Given the description of an element on the screen output the (x, y) to click on. 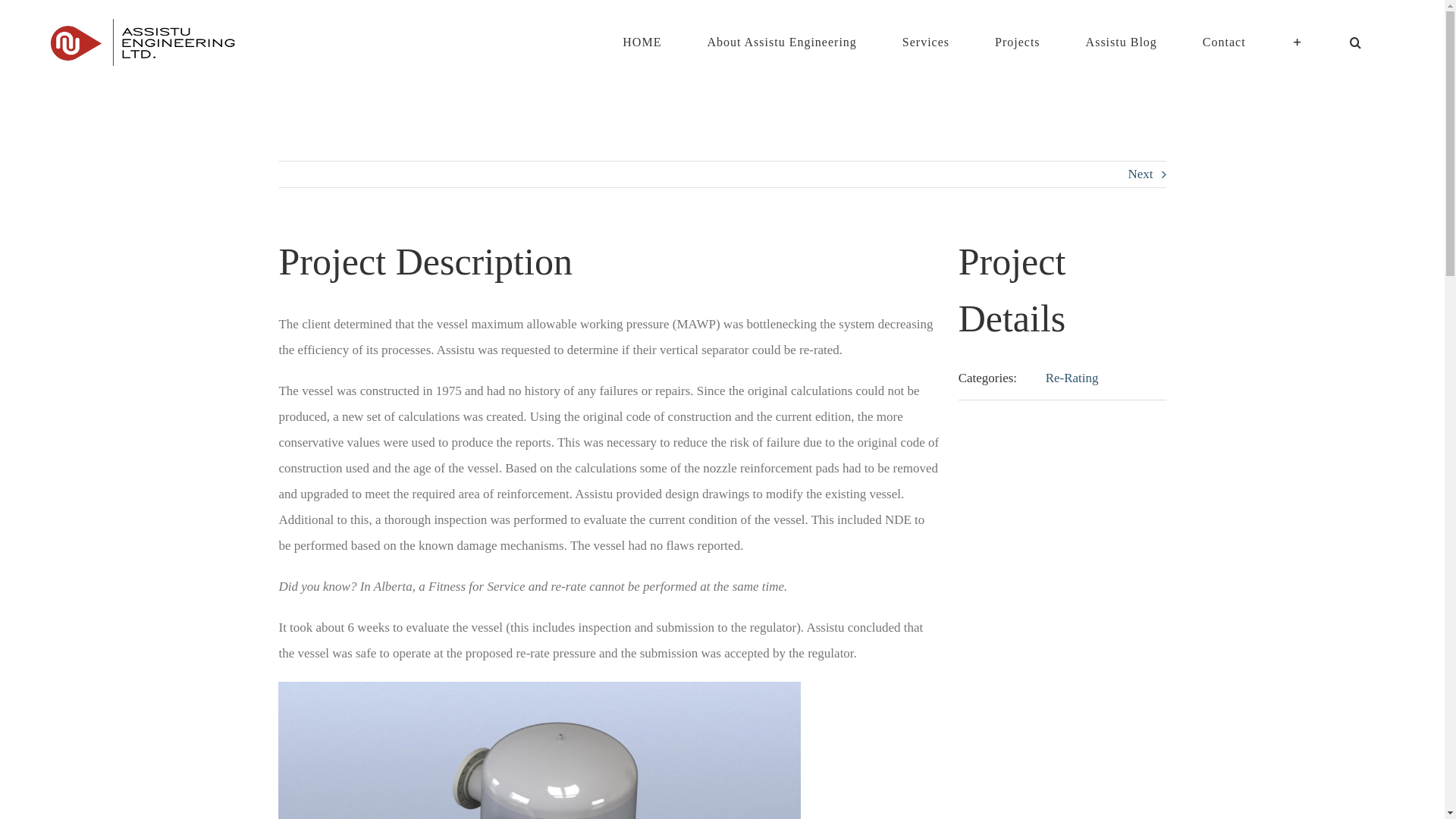
About Assistu Engineering Element type: text (781, 42)
Search Element type: hover (1355, 42)
Projects Element type: text (1018, 42)
Services Element type: text (925, 42)
Next Element type: text (1139, 174)
Assistu Blog Element type: text (1121, 42)
HOME Element type: text (641, 42)
Toggle Sliding Bar Element type: hover (1297, 42)
Contact Element type: text (1223, 42)
Re-Rating Element type: text (1071, 377)
